Given the description of an element on the screen output the (x, y) to click on. 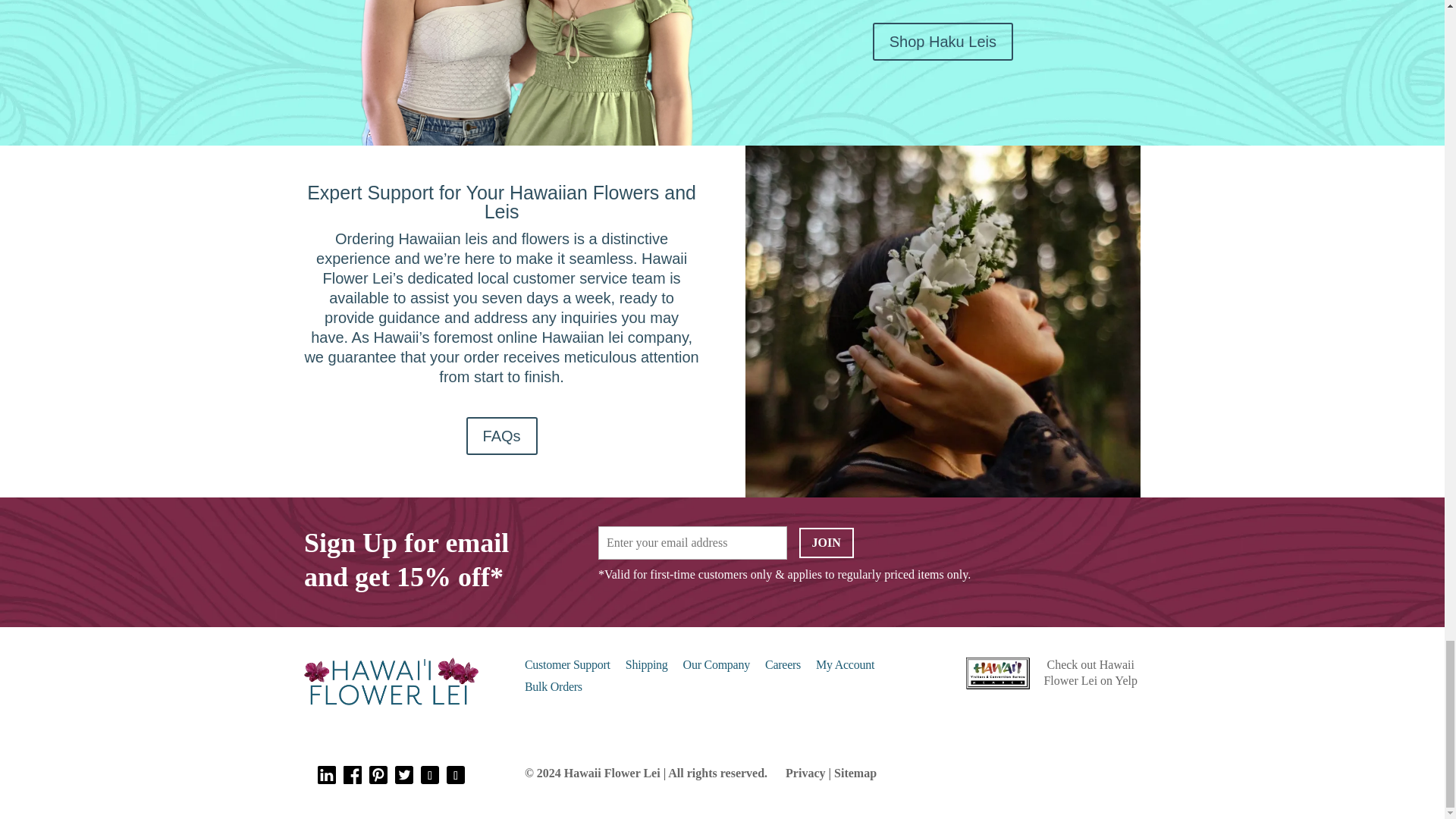
JOIN (826, 542)
HFL-Logo-2024 (391, 681)
Follow on Instagram (429, 774)
